Given the description of an element on the screen output the (x, y) to click on. 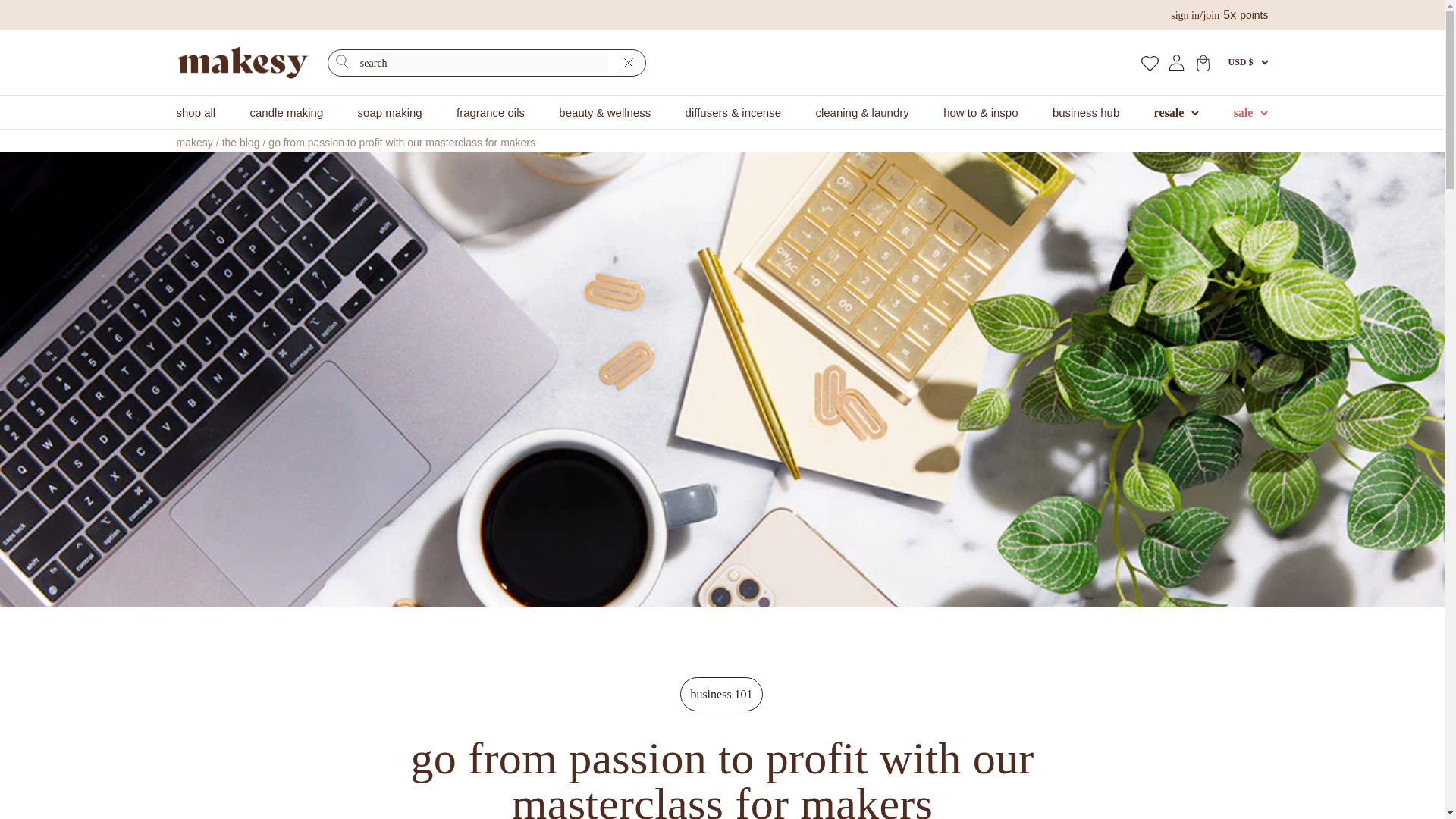
join (1211, 15)
Open account page (1177, 62)
sign in (1184, 15)
Open cart (1203, 62)
Close (627, 62)
